Given the description of an element on the screen output the (x, y) to click on. 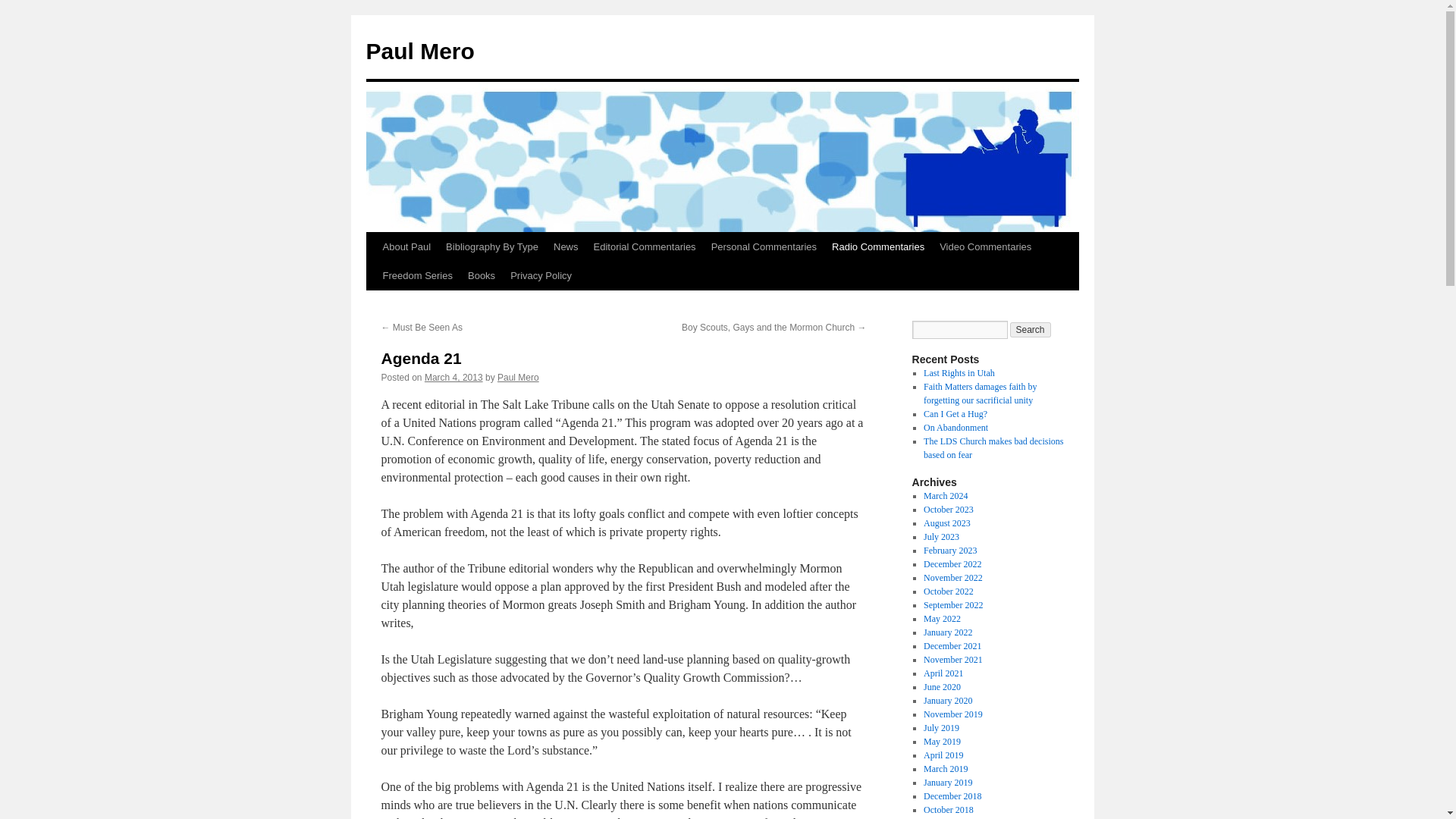
Paul Mero (419, 50)
About Paul (406, 246)
Bibliography By Type (492, 246)
The LDS Church makes bad decisions based on fear (992, 447)
March 2024 (945, 495)
2:14 pm (454, 377)
July 2023 (941, 536)
Personal Commentaries (763, 246)
Last Rights in Utah (958, 372)
Video Commentaries (985, 246)
March 4, 2013 (454, 377)
News (566, 246)
Search (1030, 329)
August 2023 (947, 522)
